Given the description of an element on the screen output the (x, y) to click on. 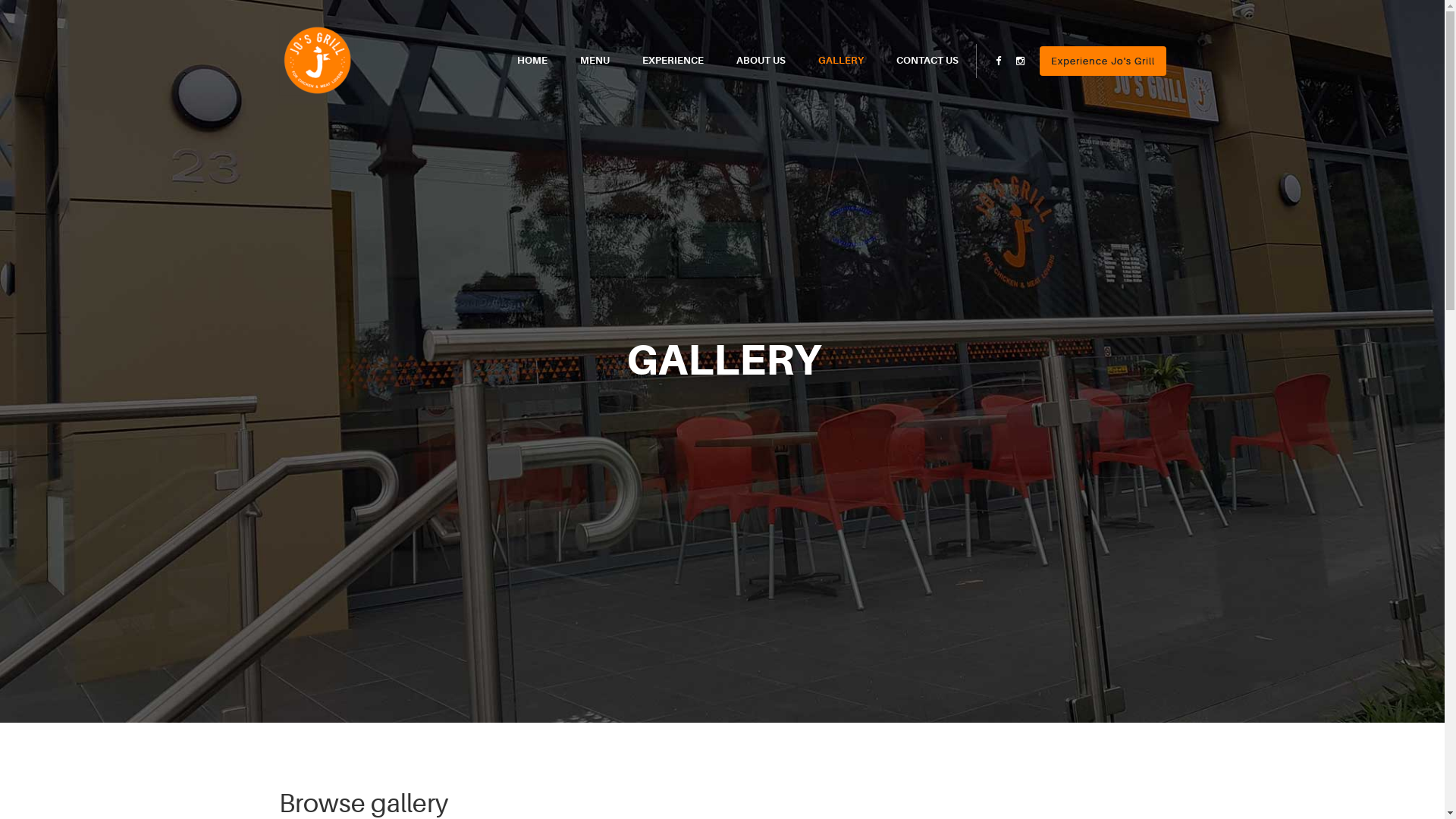
CONTACT US Element type: text (927, 60)
EXPERIENCE Element type: text (672, 60)
HOME Element type: text (532, 60)
Experience Jo's Grill Element type: text (1101, 60)
Jo's Grill - Famous Grilled Chicken and Meat Element type: hover (316, 59)
ABOUT US Element type: text (760, 60)
MENU Element type: text (594, 60)
GALLERY Element type: text (840, 60)
